Given the description of an element on the screen output the (x, y) to click on. 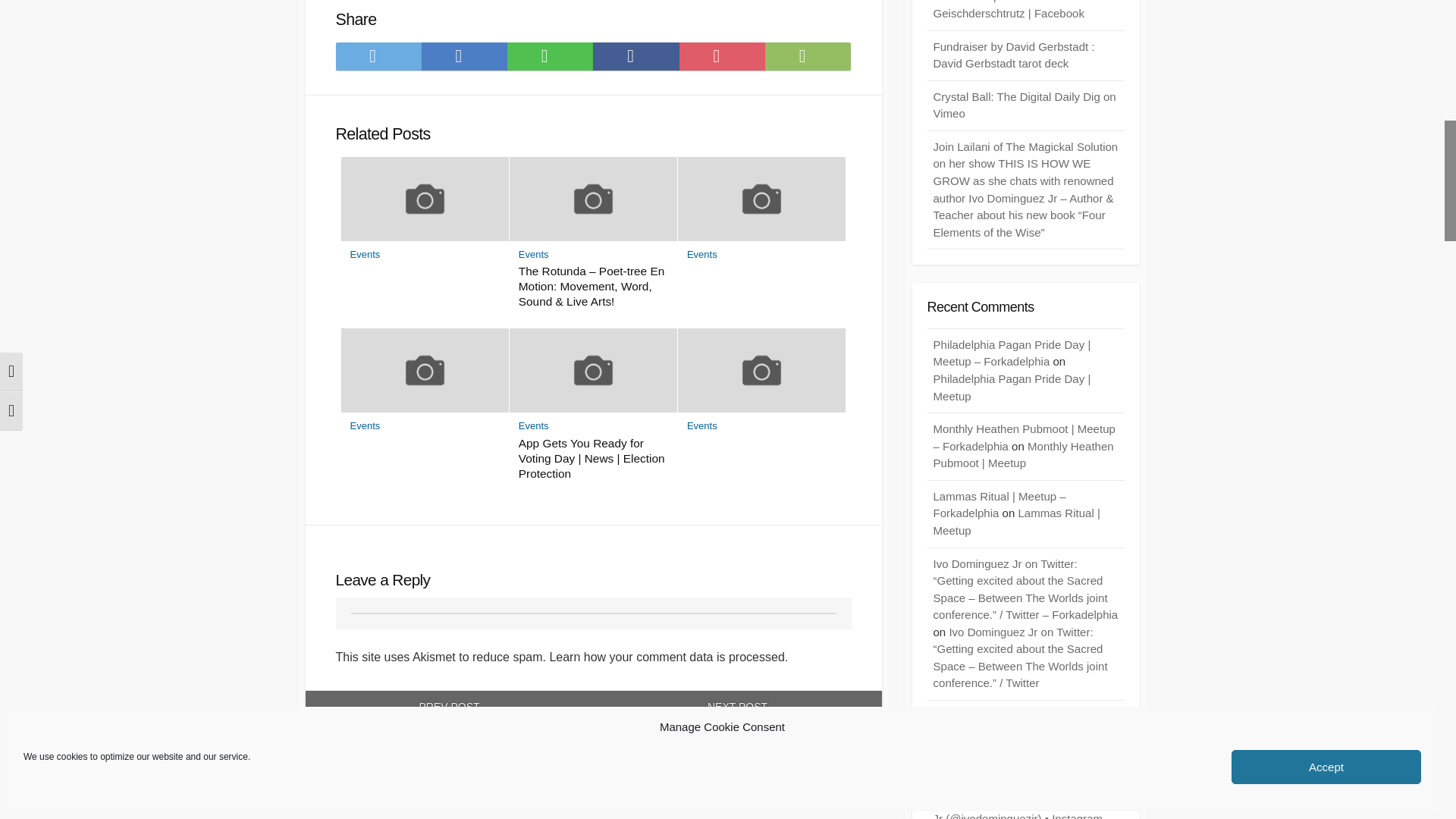
Share on Twitter (377, 56)
Save to Hatena Bookmark (464, 56)
Share on LINE (549, 56)
